Given the description of an element on the screen output the (x, y) to click on. 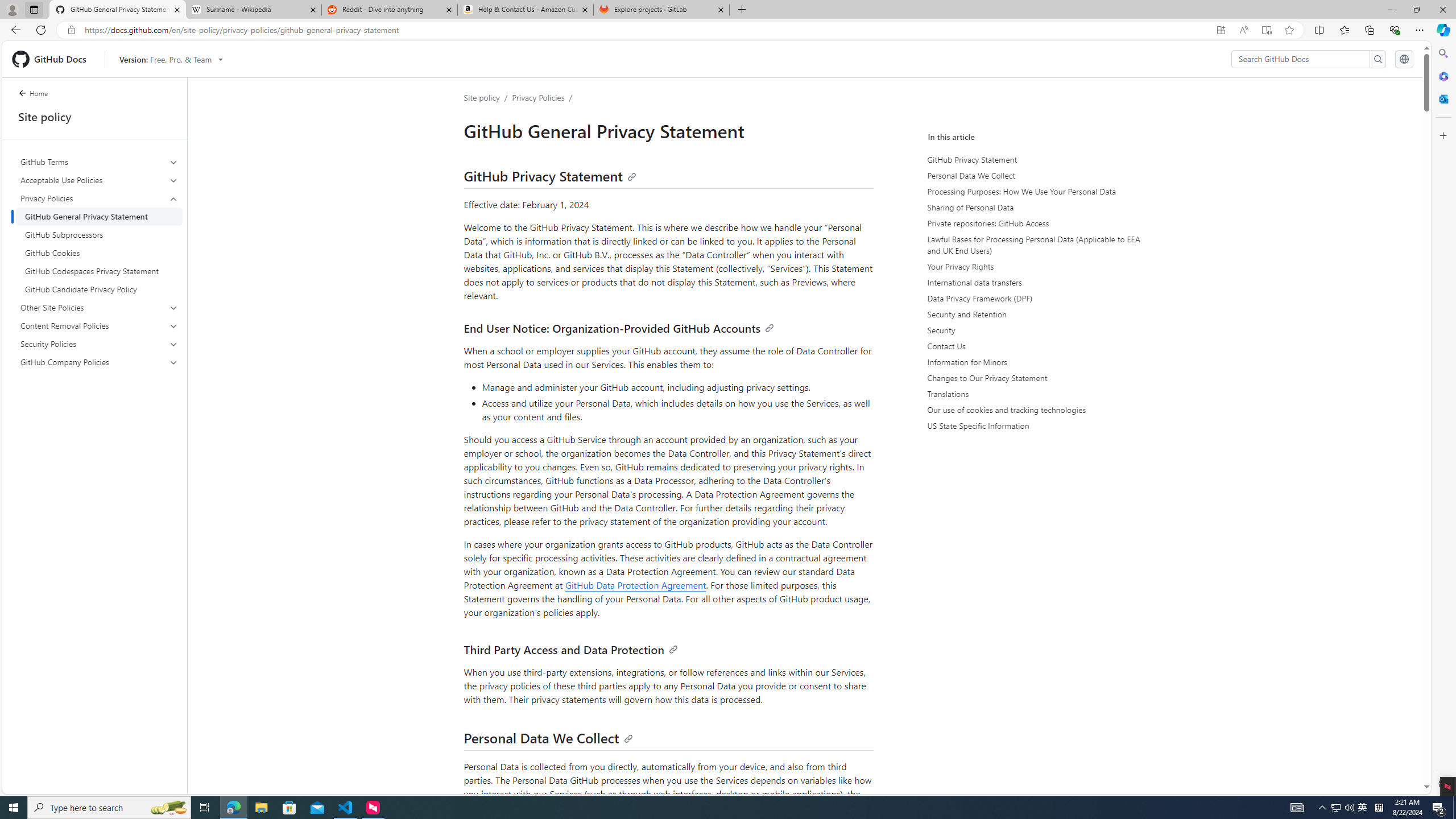
Contact Us (1032, 346)
GitHub Privacy Statement (549, 175)
Data Privacy Framework (DPF) (1034, 298)
Acceptable Use Policies (99, 180)
Changes to Our Privacy Statement (1034, 378)
Acceptable Use Policies (99, 180)
GitHub General Privacy Statement - GitHub Docs (117, 9)
GitHub Cookies (99, 253)
Data Privacy Framework (DPF) (1032, 298)
Security (1032, 330)
Content Removal Policies (99, 325)
